Given the description of an element on the screen output the (x, y) to click on. 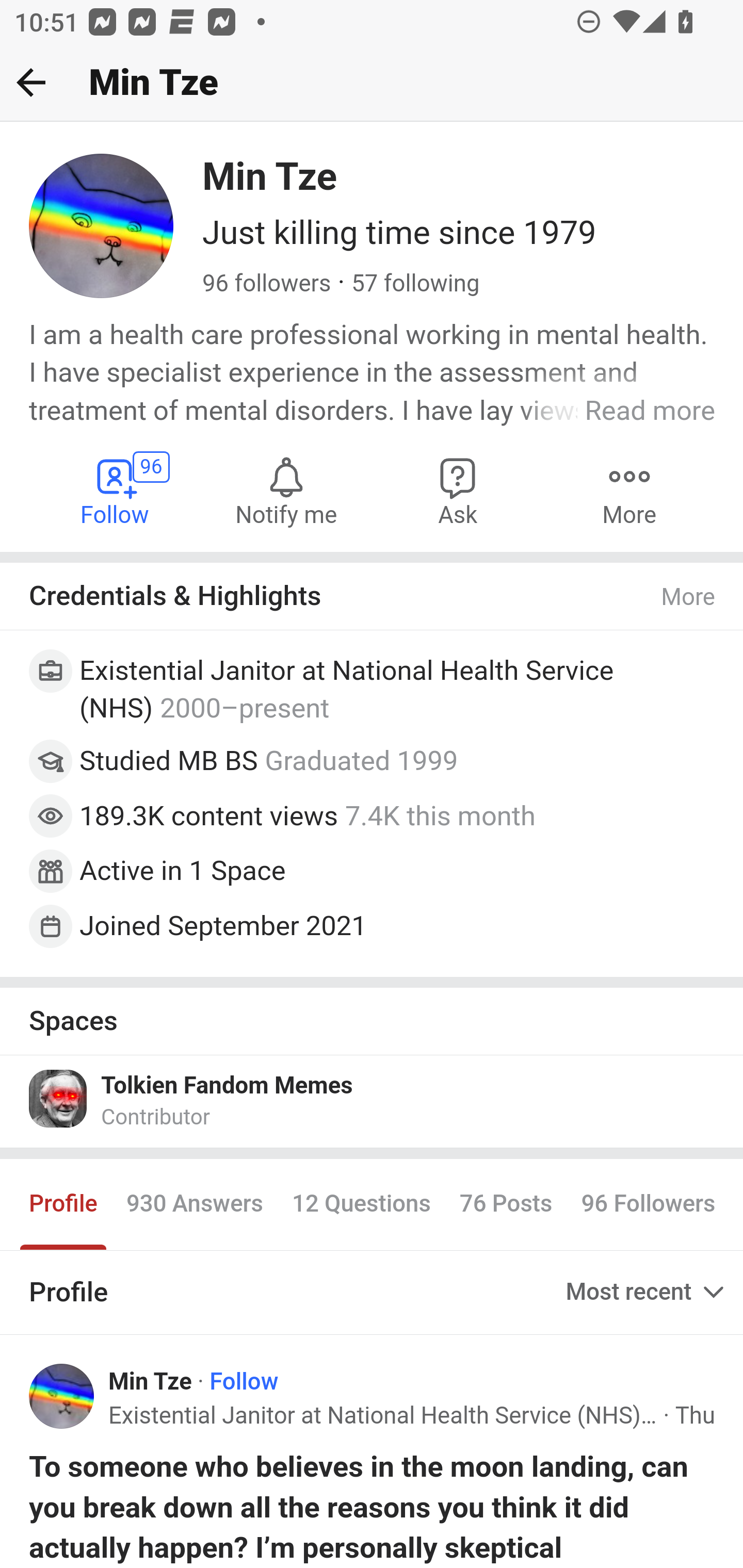
Back (30, 82)
96 followers (267, 284)
57 following (415, 284)
Follow Min Tze 96 Follow (115, 490)
Notify me (285, 490)
Ask (458, 490)
More (628, 490)
More (688, 597)
Icon for Tolkien Fandom Memes (58, 1098)
Tolkien Fandom Memes (227, 1086)
Profile (63, 1204)
930 Answers (193, 1204)
12 Questions (360, 1204)
76 Posts (505, 1204)
96 Followers (647, 1204)
Most recent (647, 1291)
Profile photo for Min Tze (61, 1395)
Min Tze (150, 1382)
Follow (244, 1382)
